Given the description of an element on the screen output the (x, y) to click on. 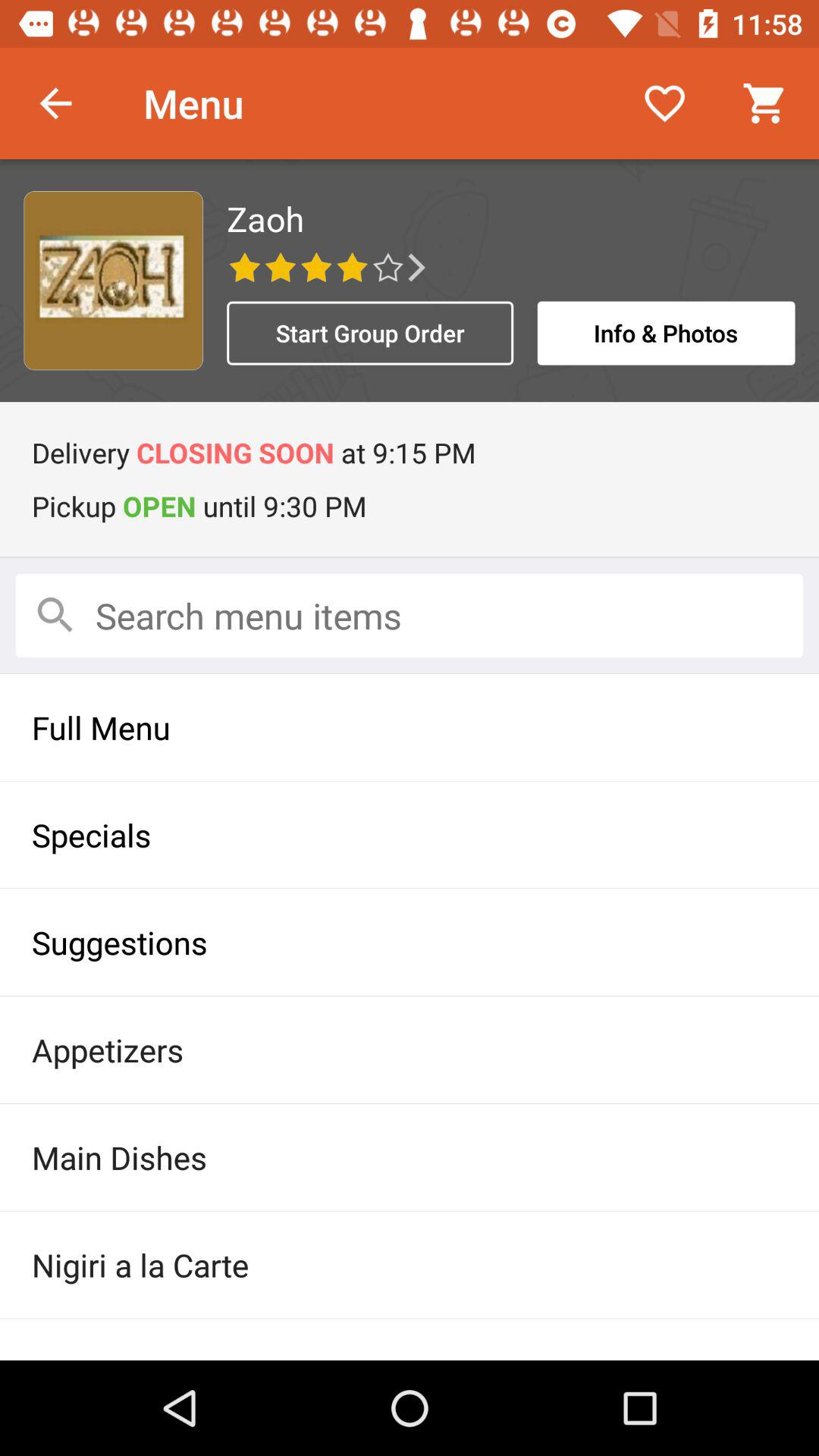
turn off item below appetizers icon (409, 1156)
